Given the description of an element on the screen output the (x, y) to click on. 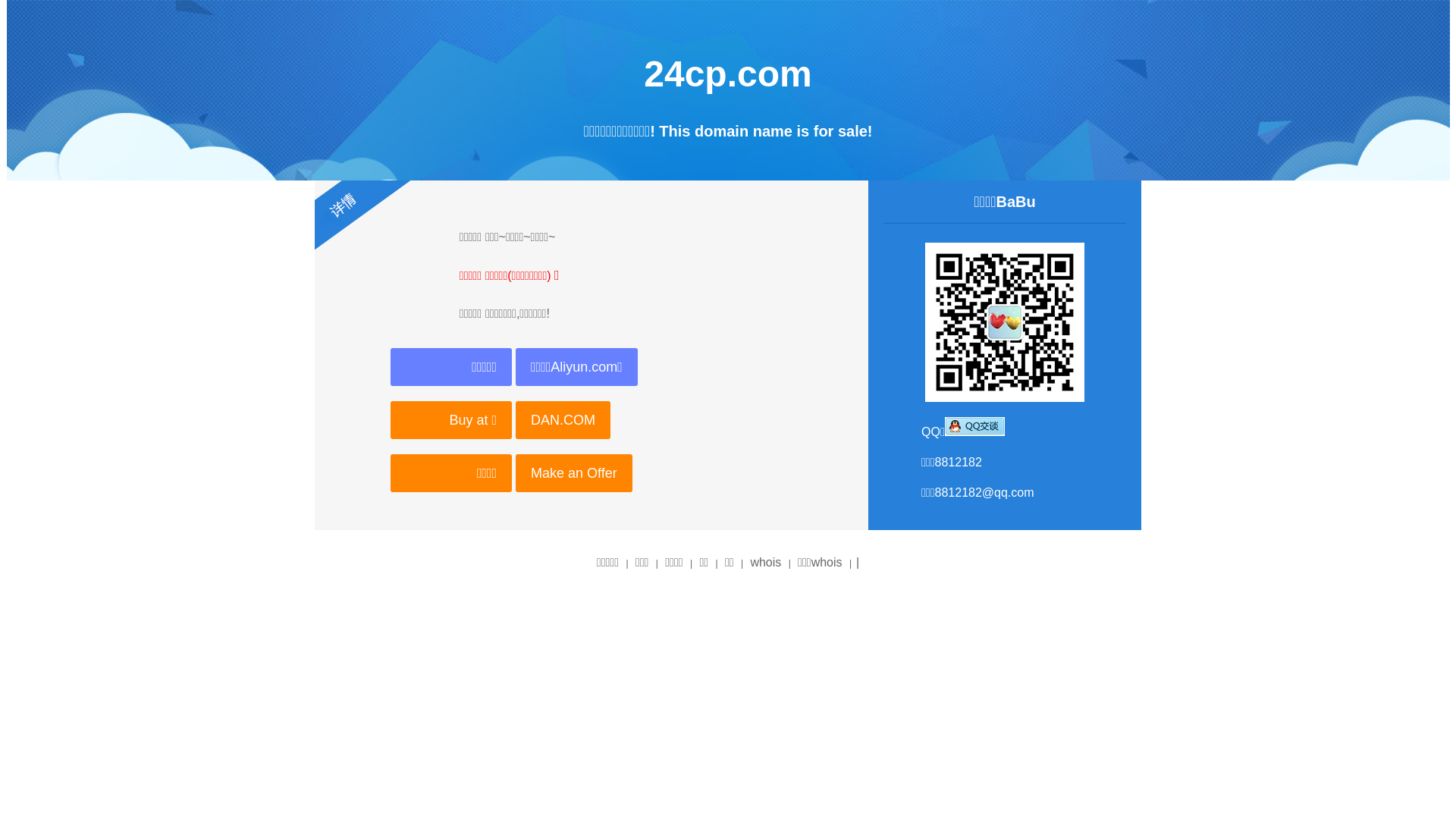
whois Element type: text (765, 561)
Make an Offer Element type: text (573, 473)
DAN.COM Element type: text (562, 420)
| Element type: text (857, 561)
